Given the description of an element on the screen output the (x, y) to click on. 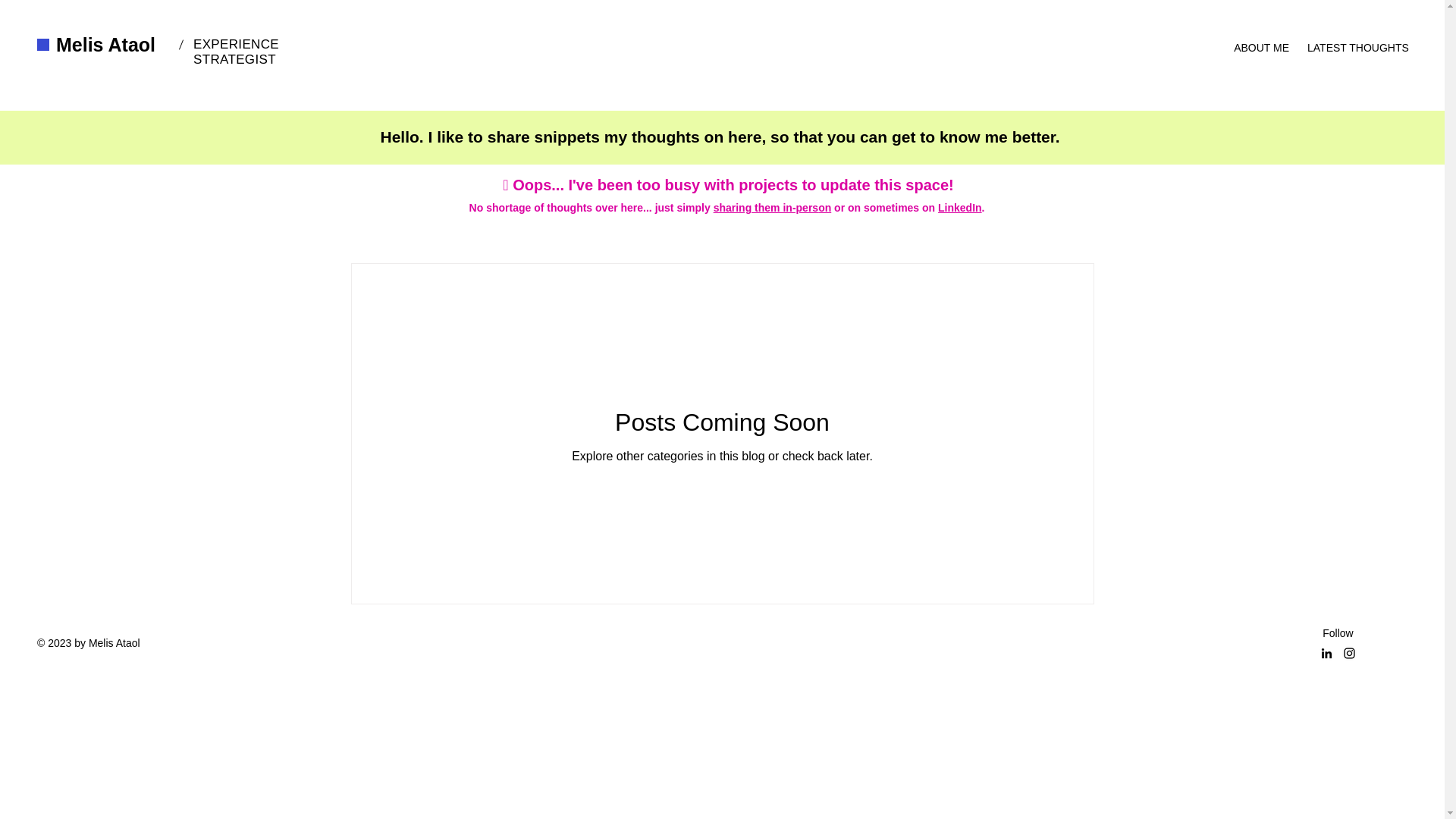
ABOUT ME (1261, 40)
EXPERIENCE STRATEGIST (236, 51)
LinkedIn (959, 207)
Melis Ataol (105, 44)
LATEST THOUGHTS (1355, 40)
sharing them in-person (772, 207)
